Given the description of an element on the screen output the (x, y) to click on. 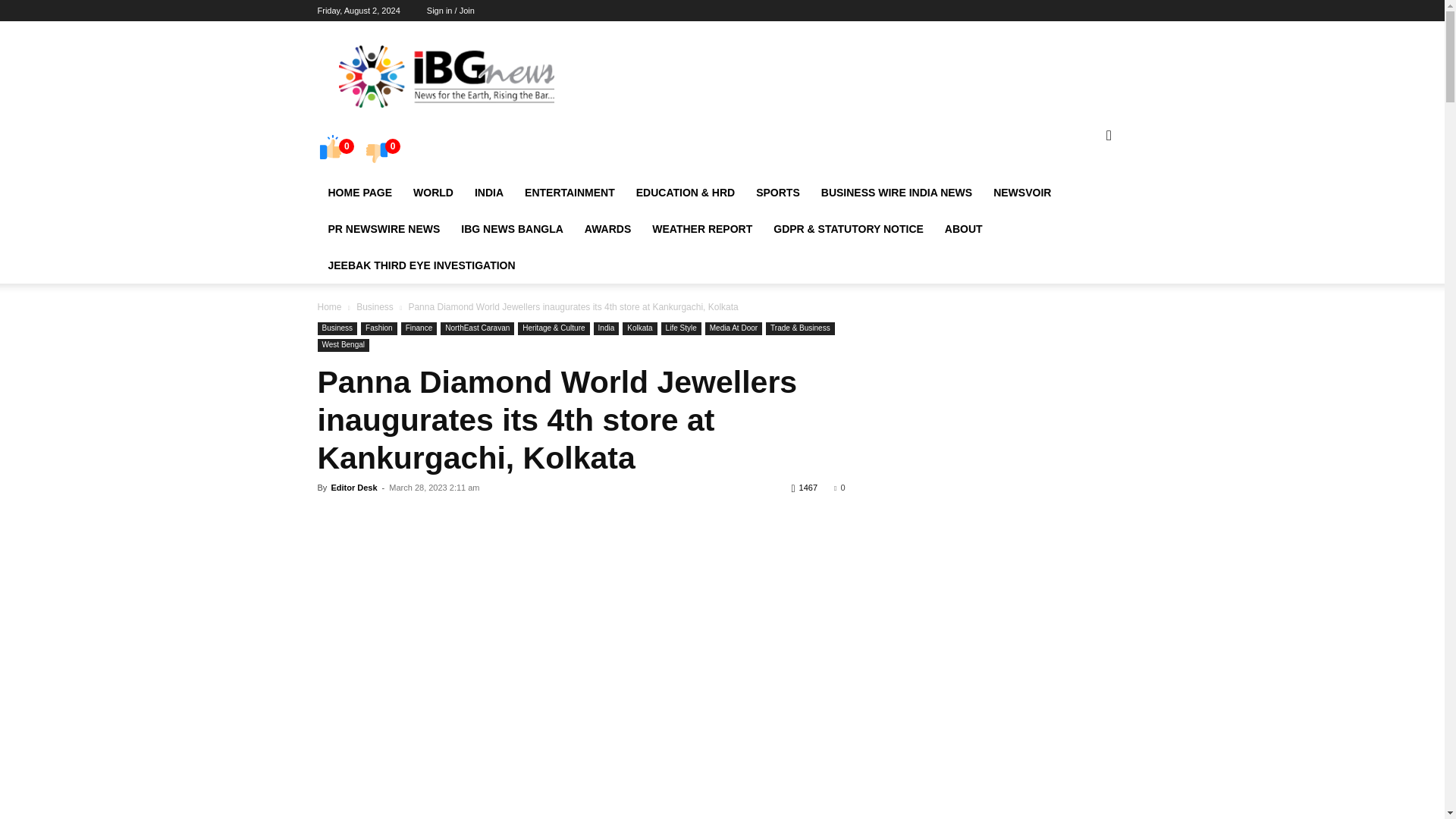
International Broadcasting of Global News (445, 76)
